Given the description of an element on the screen output the (x, y) to click on. 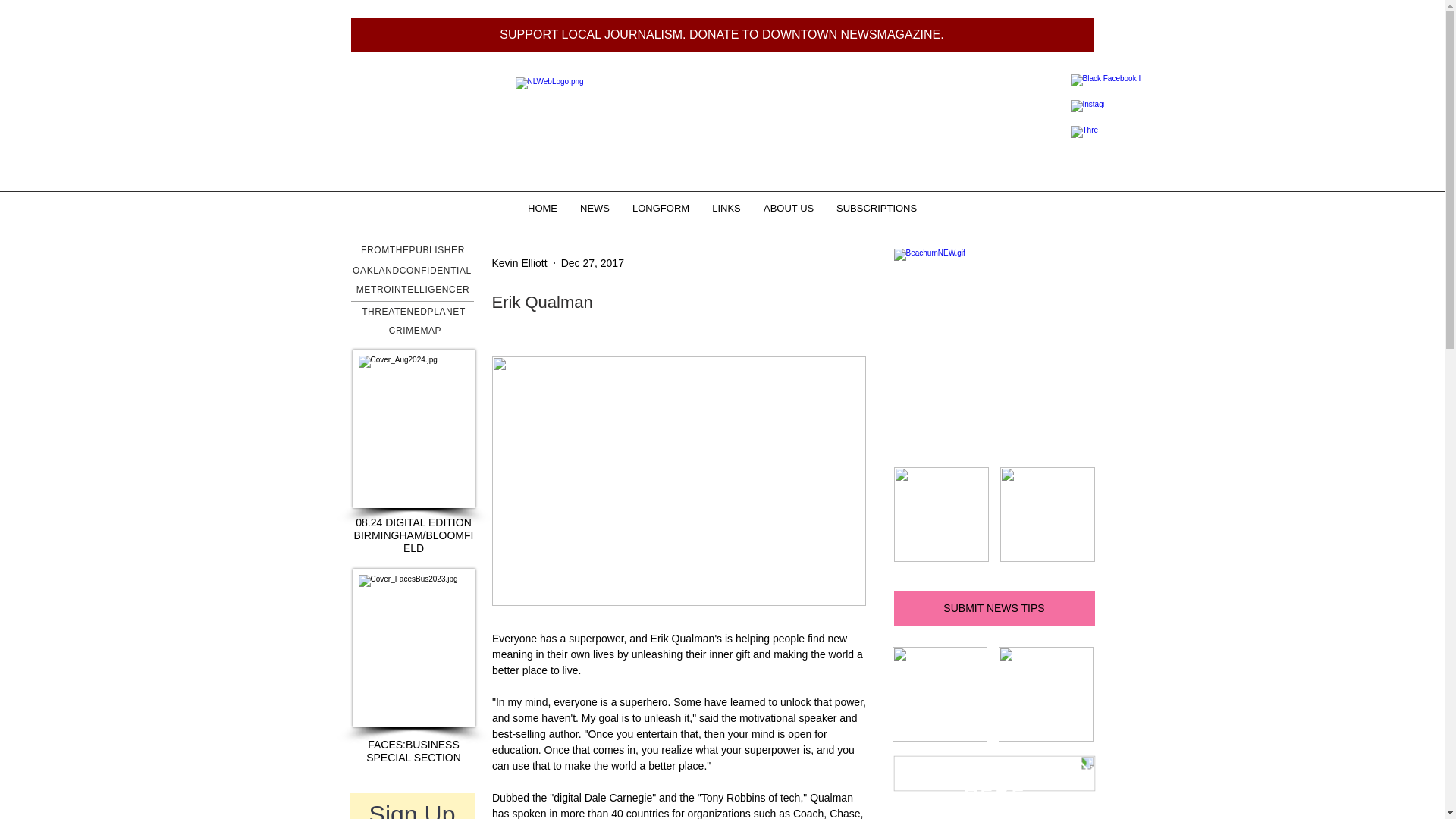
SUBSCRIPTIONS (876, 208)
LONGFORM (660, 208)
Dec 27, 2017 (592, 262)
HOME (542, 208)
SUPPORT LOCAL JOURNALISM. DONATE TO DOWNTOWN NEWSMAGAZINE. (721, 35)
Kevin Elliott (519, 262)
